Given the description of an element on the screen output the (x, y) to click on. 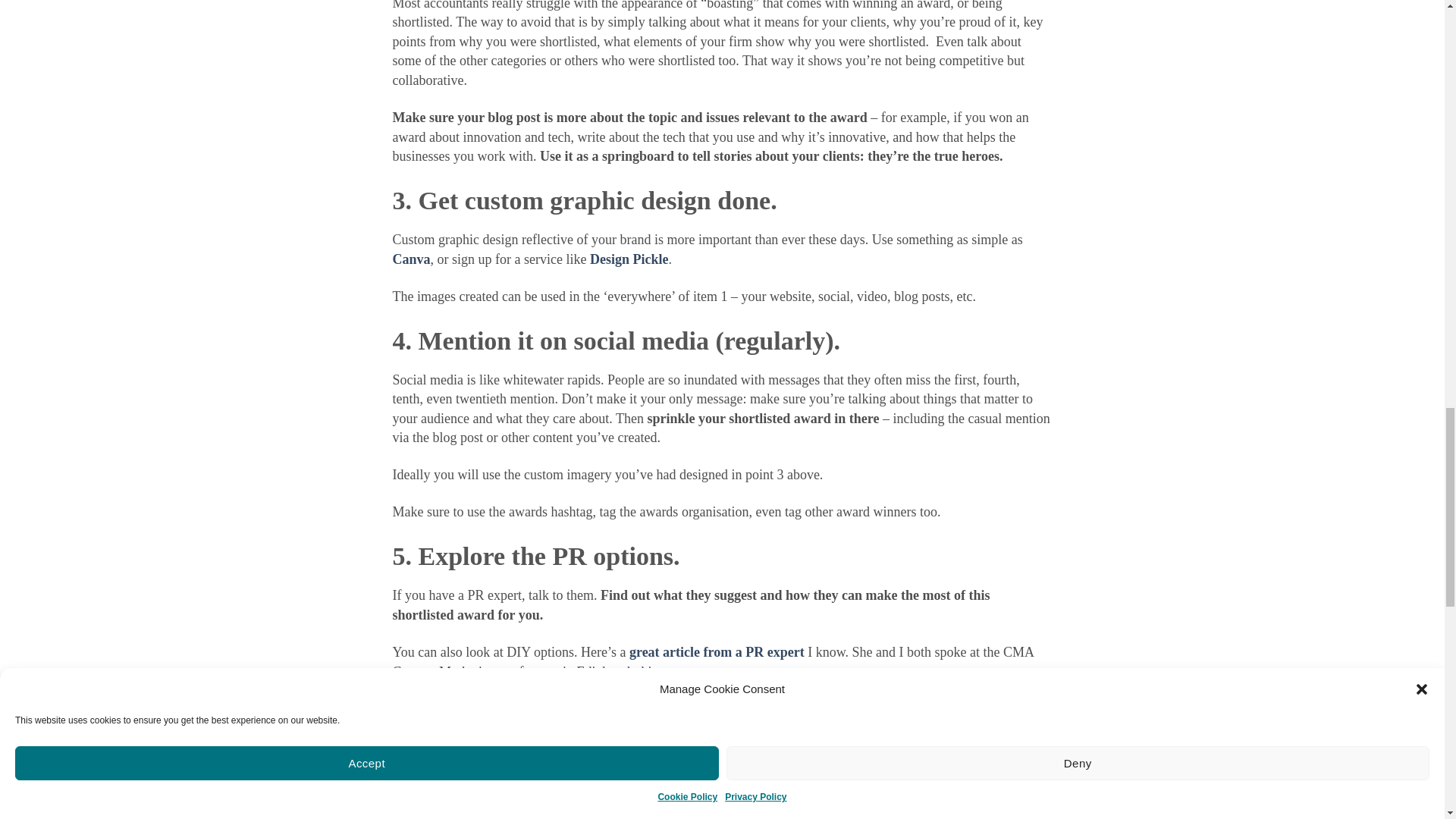
Canva (411, 258)
